Given the description of an element on the screen output the (x, y) to click on. 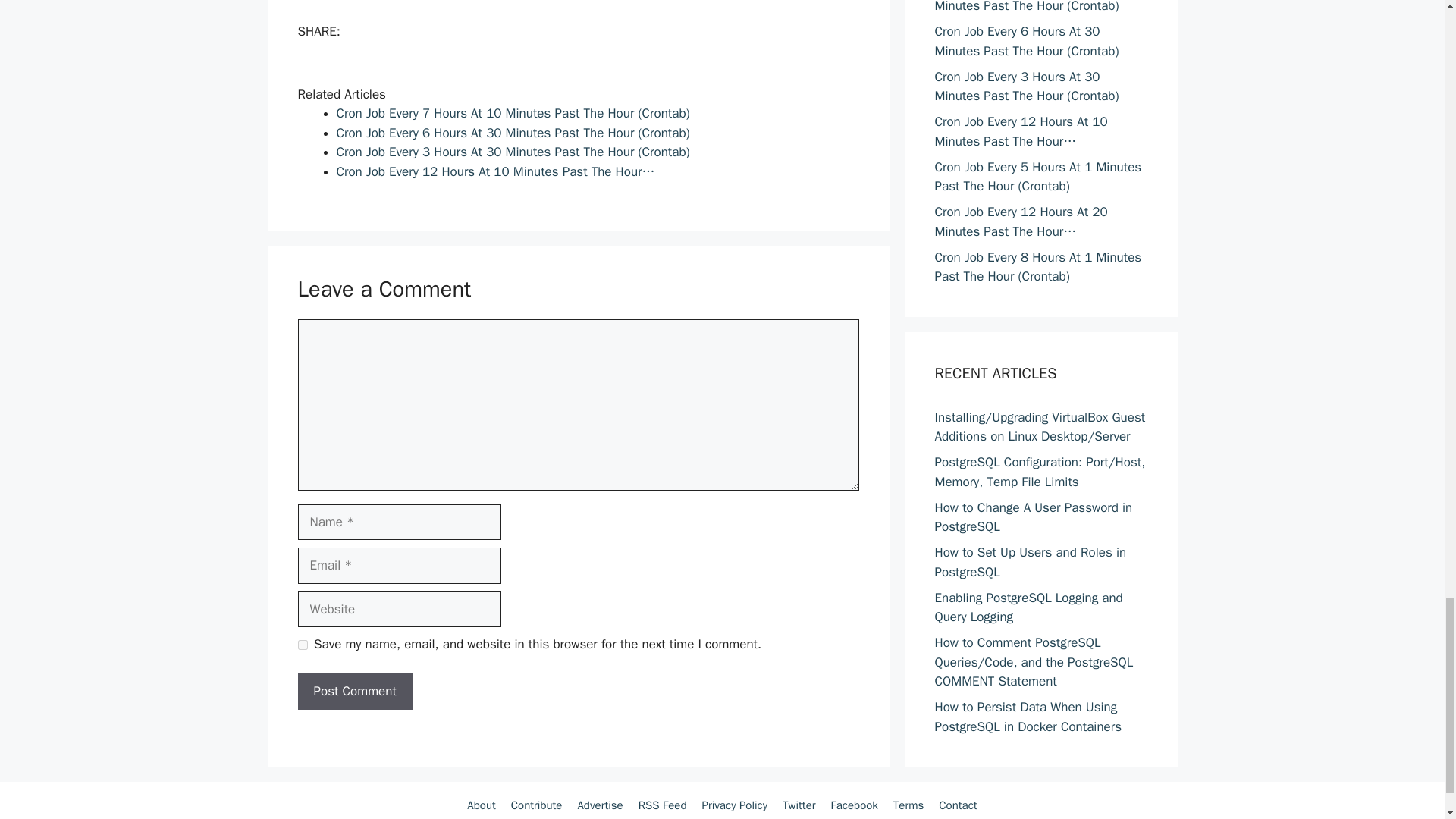
Post Comment (354, 691)
yes (302, 644)
